Given the description of an element on the screen output the (x, y) to click on. 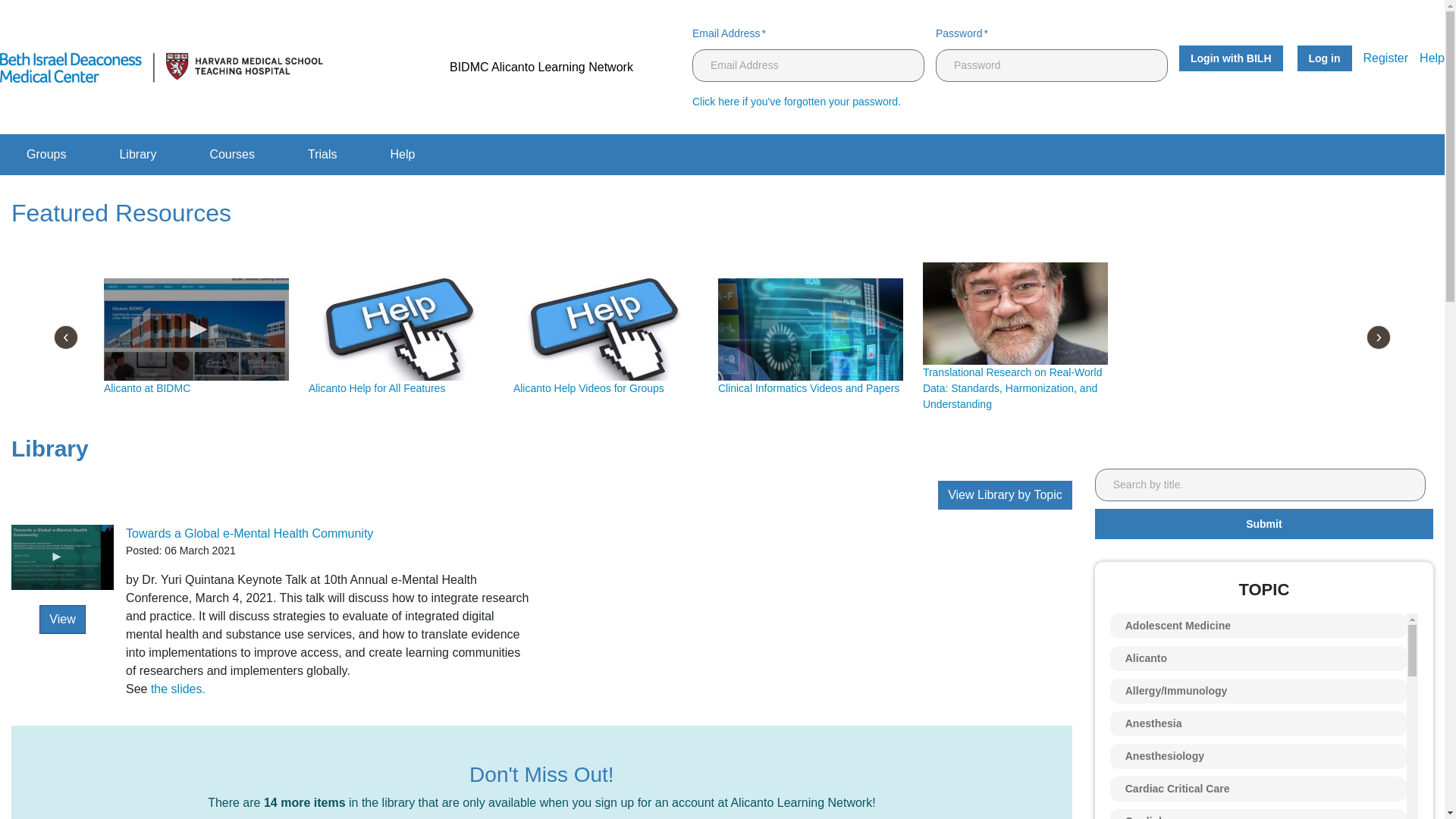
Alicanto at BIDMC (146, 387)
Log in (1324, 58)
Register (1385, 58)
View Library by Topic (1004, 494)
Library (137, 154)
Groups (45, 154)
Towards a Global e-Mental Health Community (248, 533)
Alicanto Help Videos for Groups (588, 387)
Courses (231, 154)
Submit (1263, 523)
View (61, 619)
the slides. (178, 688)
Login with BILH (1230, 58)
Clinical Informatics Videos and Papers (808, 387)
Groups (45, 154)
